Given the description of an element on the screen output the (x, y) to click on. 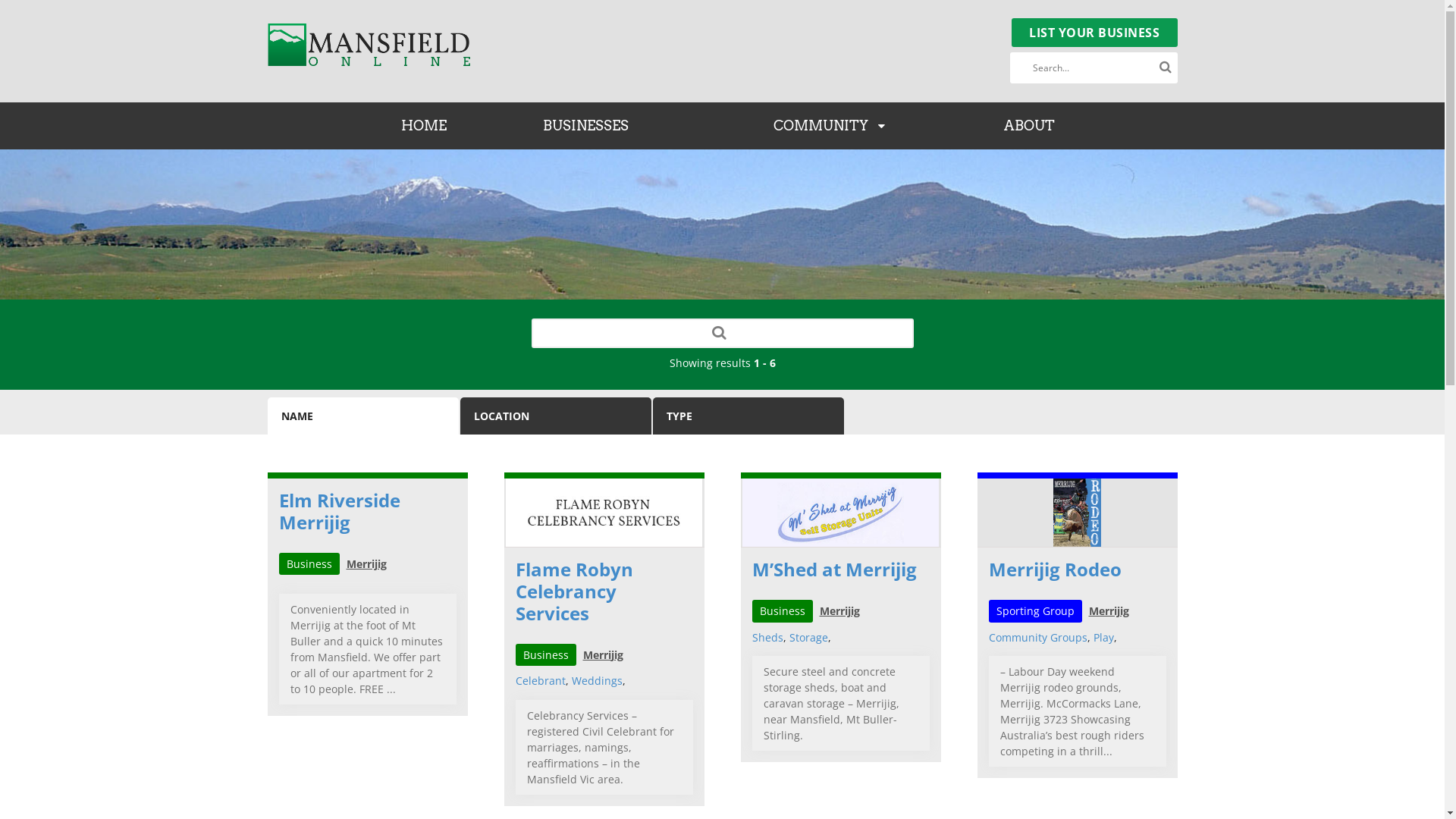
Business Element type: text (782, 610)
COMMUNITY Element type: text (829, 125)
HOME Element type: text (423, 125)
Merrijig Element type: text (839, 610)
Merrijig Rodeo Element type: text (1054, 568)
Merrijig Element type: text (365, 563)
Sporting Group Element type: text (1035, 610)
Play Element type: text (1103, 637)
BUSINESSES Element type: text (586, 125)
Elm Riverside Merrijig Element type: text (339, 510)
LIST YOUR BUSINESS Element type: text (1094, 32)
TYPE Element type: text (747, 416)
Celebrant Element type: text (540, 680)
Search Element type: text (720, 332)
Search Element type: text (1165, 66)
Storage Element type: text (807, 637)
Business Element type: text (545, 654)
NAME Element type: text (362, 416)
Community Groups Element type: text (1037, 637)
Merrijig Element type: text (602, 654)
Sheds Element type: text (767, 637)
Weddings Element type: text (596, 680)
ABOUT Element type: text (1029, 125)
Business Element type: text (309, 563)
Flame Robyn Celebrancy Services Element type: text (574, 590)
LOCATION Element type: text (554, 416)
Merrijig Element type: text (1108, 610)
